Given the description of an element on the screen output the (x, y) to click on. 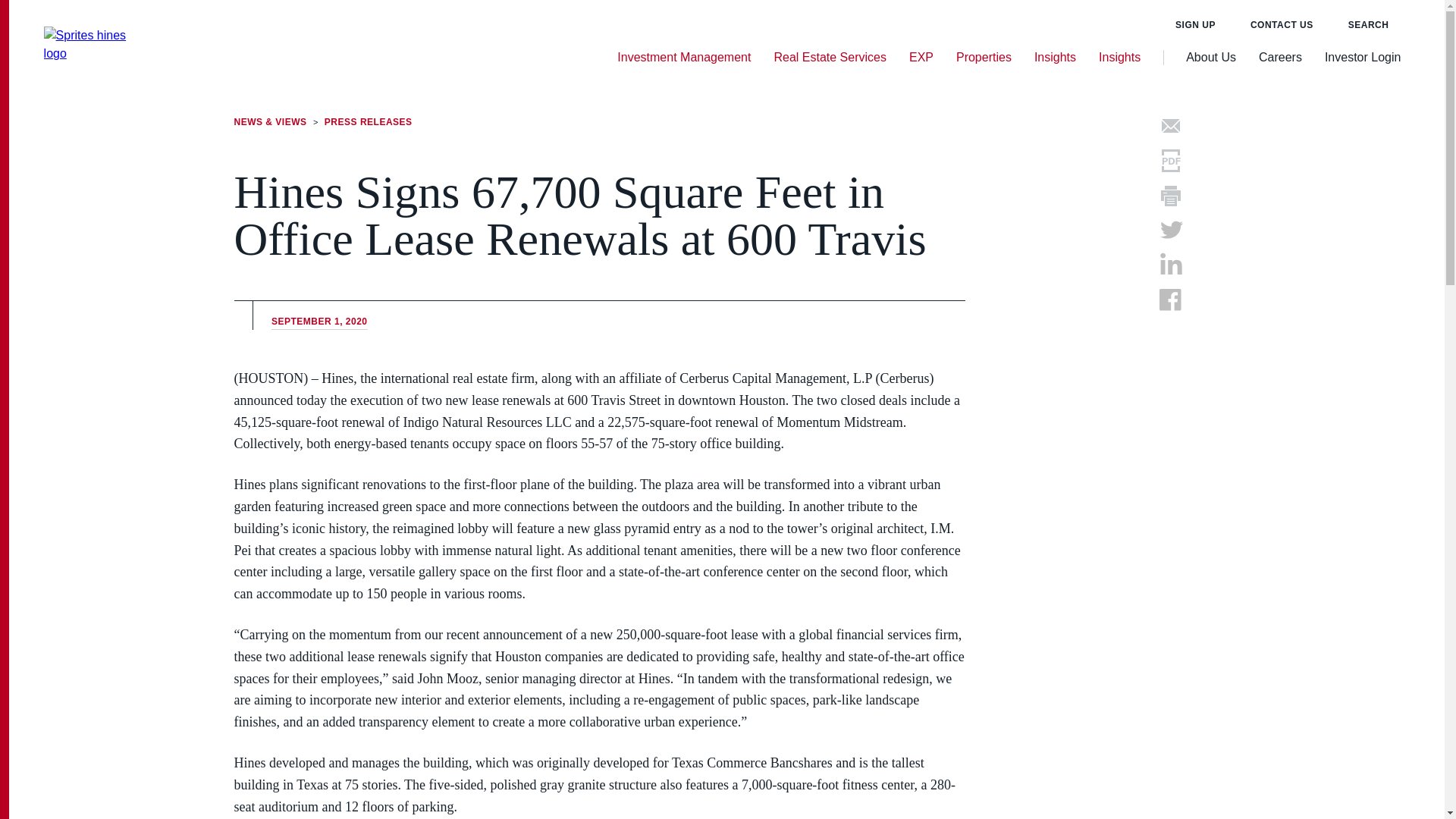
CONTACT US (1287, 24)
Real Estate Services (829, 57)
Insights (1119, 57)
SIGN UP (1200, 24)
EXP (920, 57)
Investment Management (684, 57)
About Us (1211, 57)
Insights (1054, 57)
SEARCH (1374, 24)
Properties (983, 57)
